Given the description of an element on the screen output the (x, y) to click on. 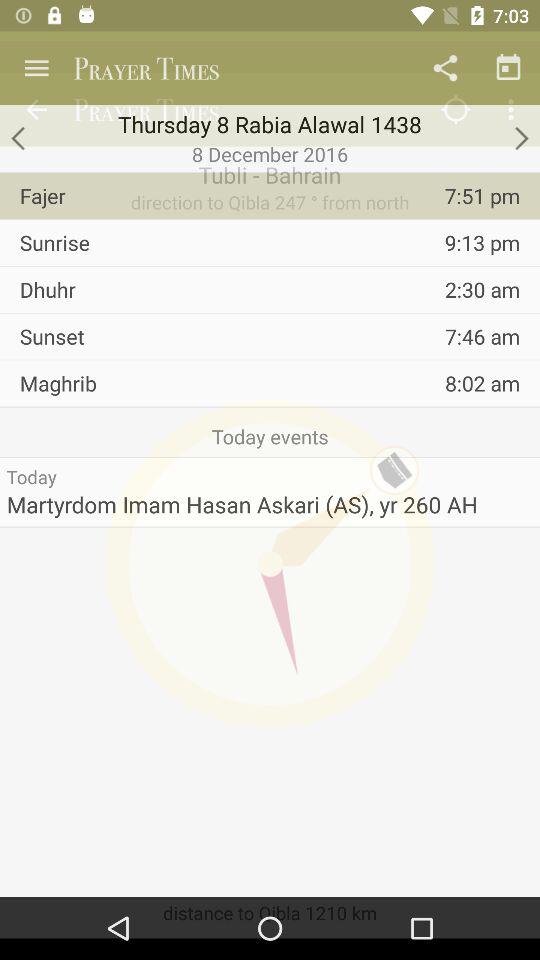
go forward to next date (520, 138)
